Given the description of an element on the screen output the (x, y) to click on. 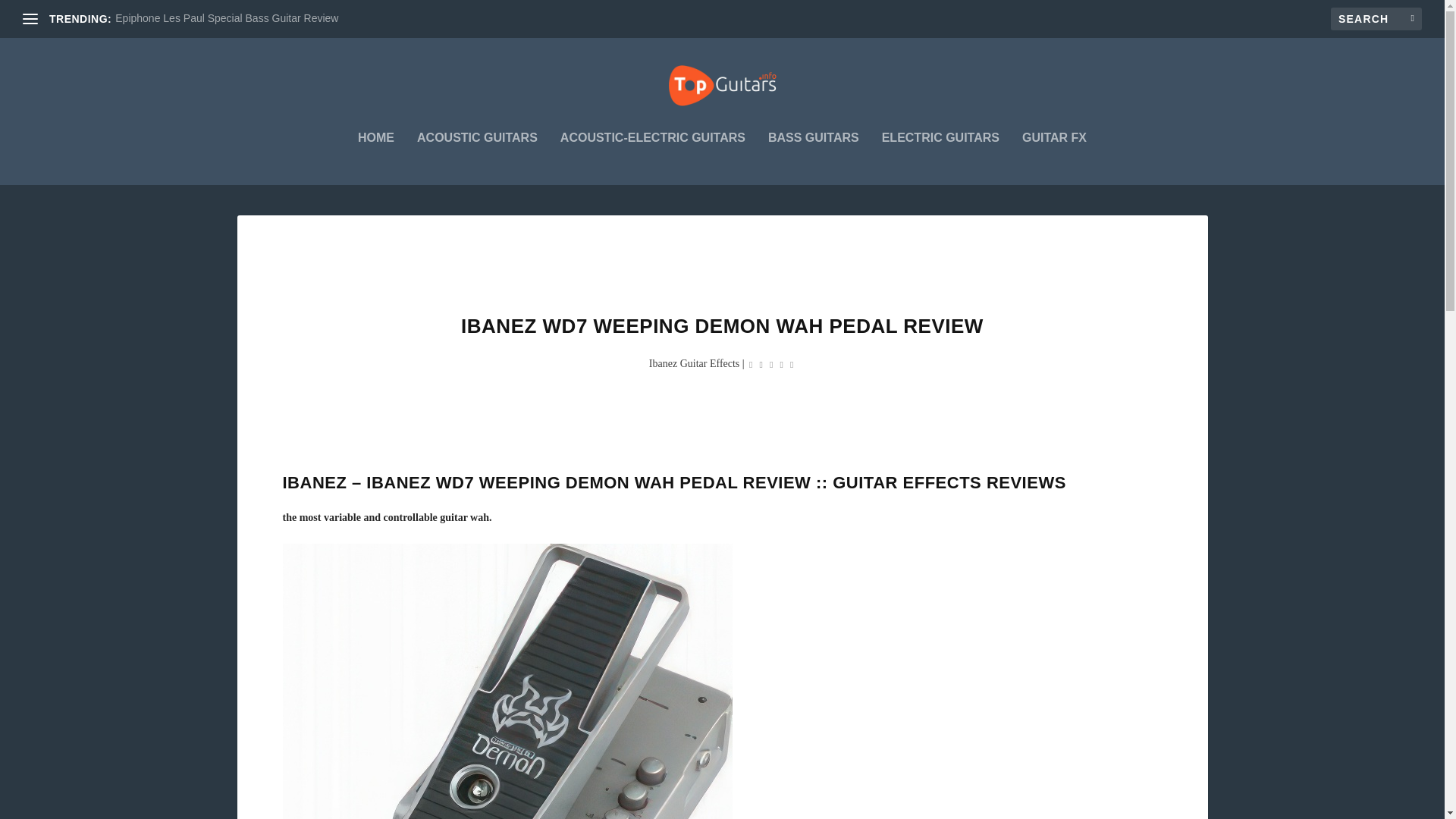
Epiphone Les Paul Special Bass Guitar Review (226, 18)
ACOUSTIC-ELECTRIC GUITARS (652, 158)
ELECTRIC GUITARS (940, 158)
HOME (376, 158)
Ibanez Guitar Effects (694, 363)
GUITAR FX (1054, 158)
ACOUSTIC GUITARS (476, 158)
Rating: 5.00 (770, 363)
BASS GUITARS (813, 158)
Search for: (1376, 18)
